Given the description of an element on the screen output the (x, y) to click on. 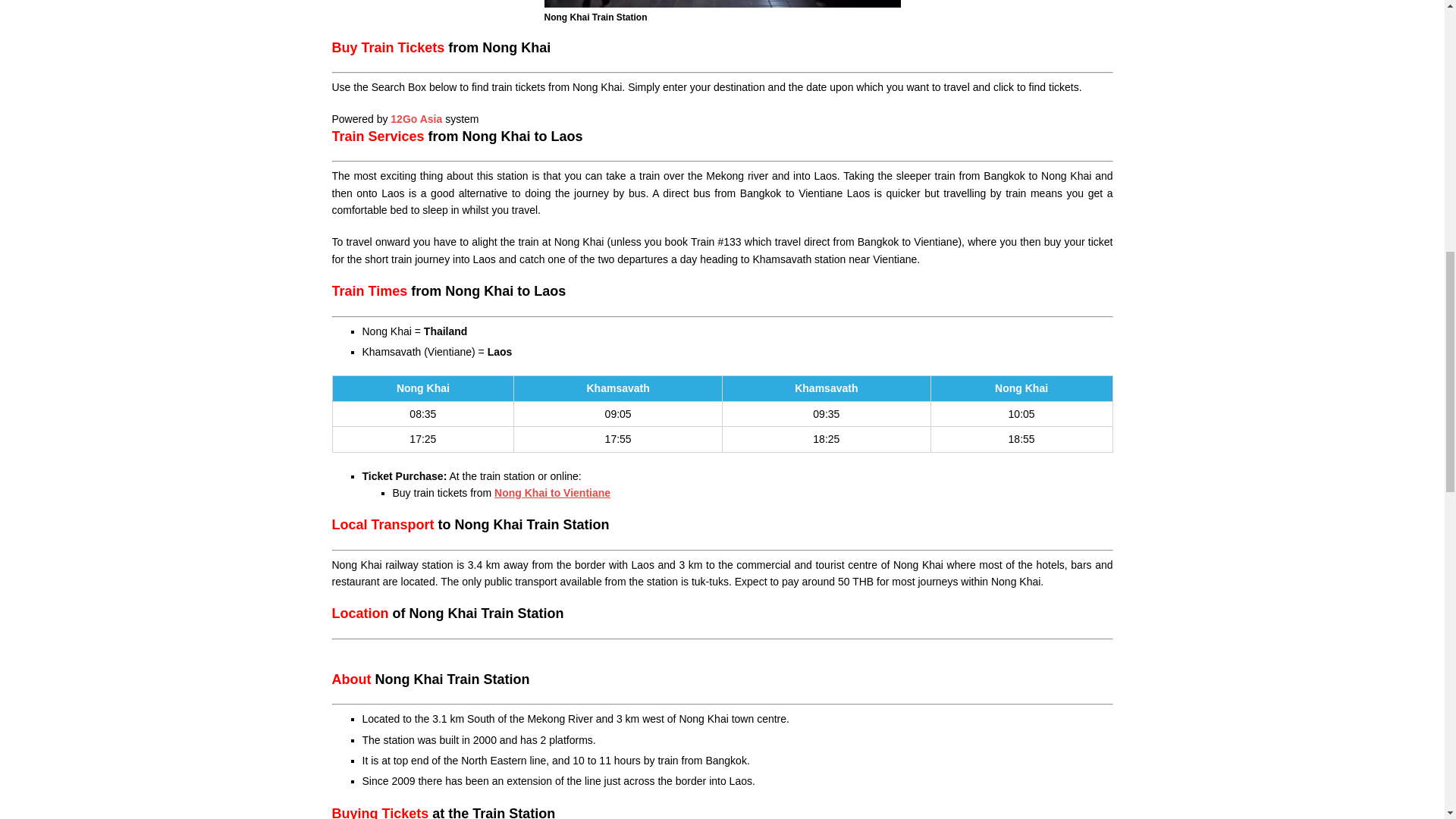
Buy tickets from Nong Khai to Vientiane (552, 492)
